Given the description of an element on the screen output the (x, y) to click on. 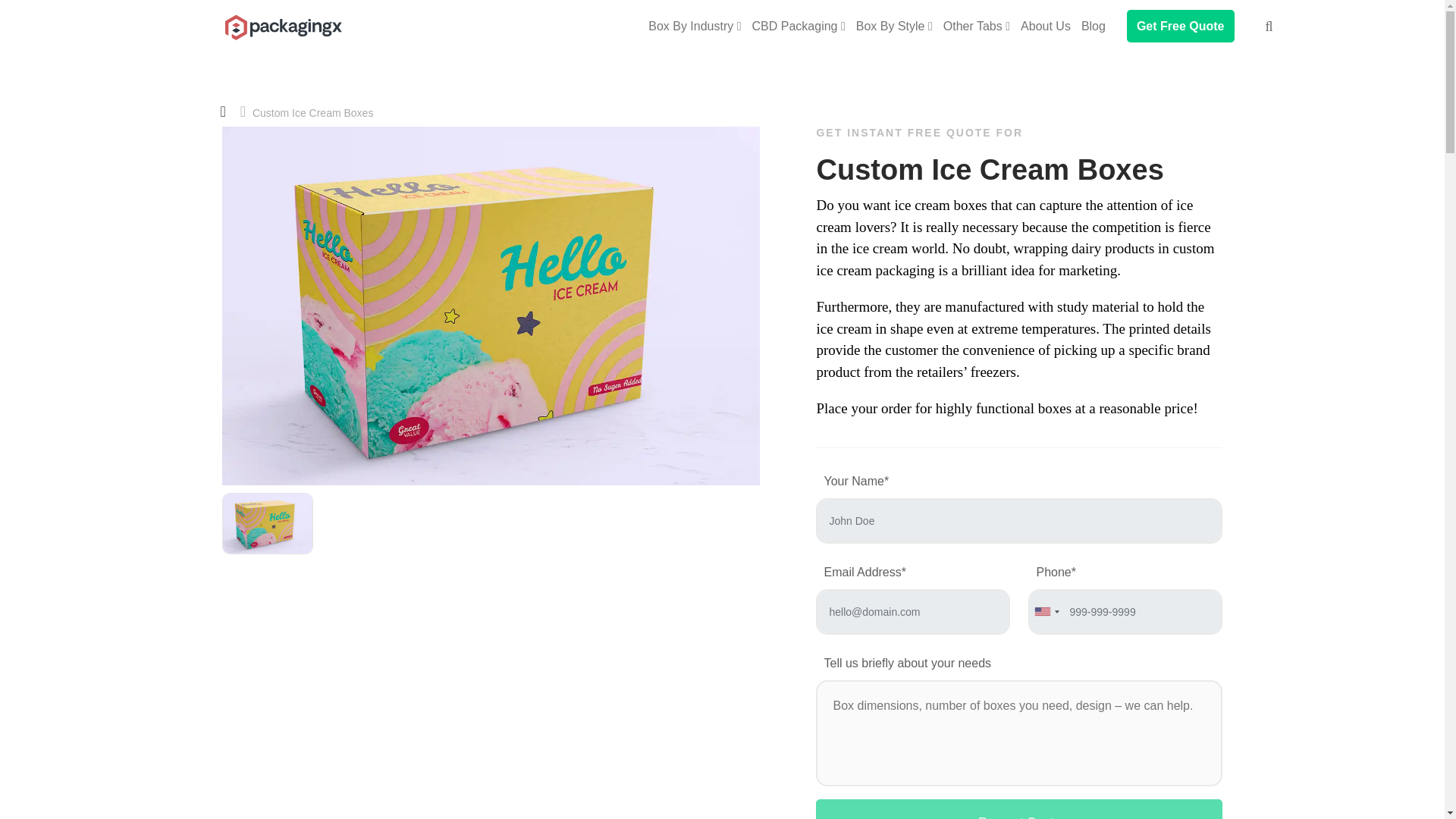
Get Free Quote (1180, 25)
About Us (1045, 26)
Blog (1093, 26)
Custom Ice Cream Boxes (281, 17)
Get Free Qoute (1180, 25)
CBD Packaging (799, 26)
Other Tabs (976, 26)
Request Quote (1019, 809)
Box By Style (894, 26)
Box By Industry (694, 26)
